Given the description of an element on the screen output the (x, y) to click on. 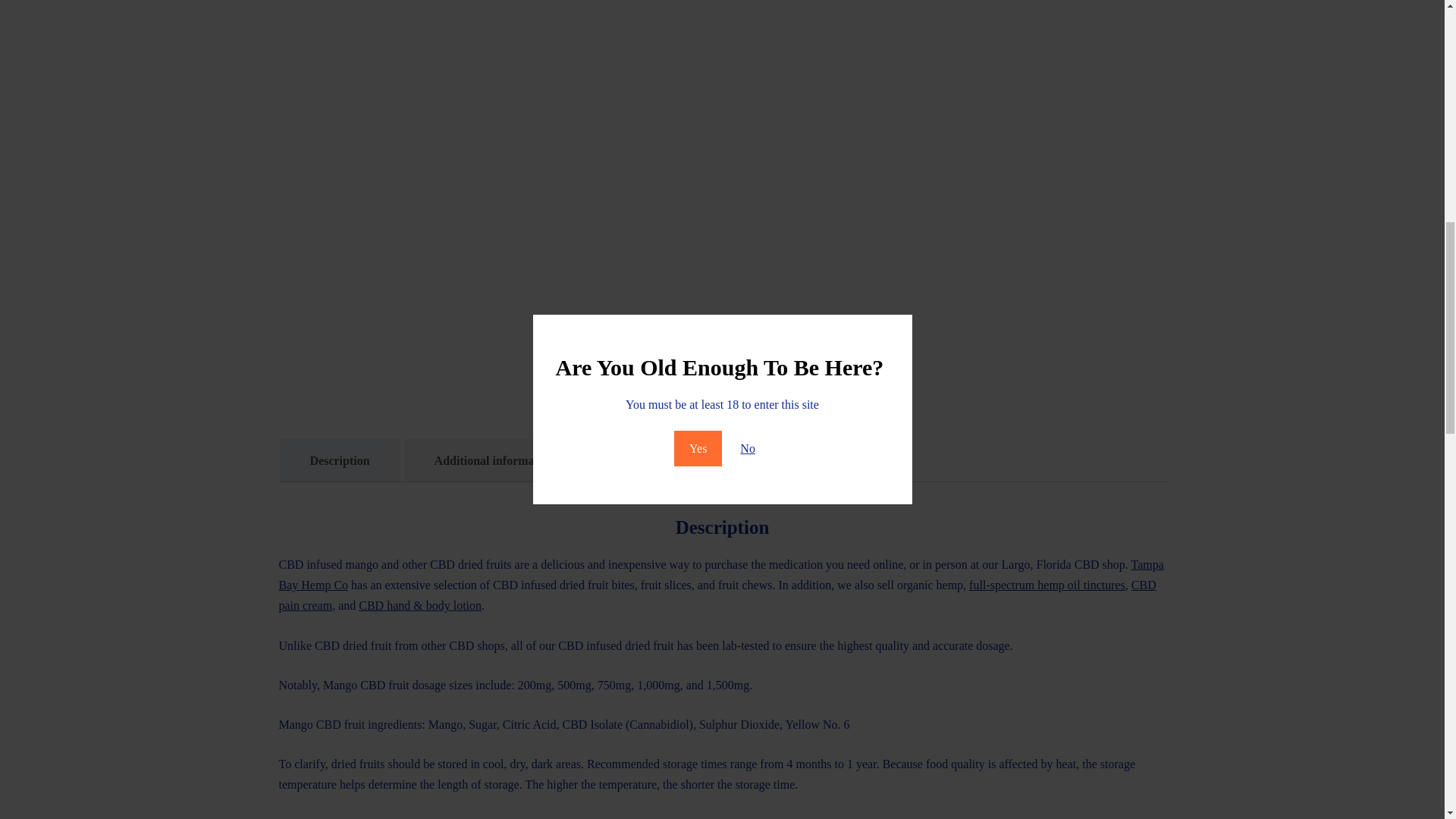
Additional information (493, 460)
Description (338, 460)
Tampa Bay Hemp Co (721, 574)
CBD pain cream (717, 594)
full-spectrum hemp oil tinctures (1047, 584)
